Given the description of an element on the screen output the (x, y) to click on. 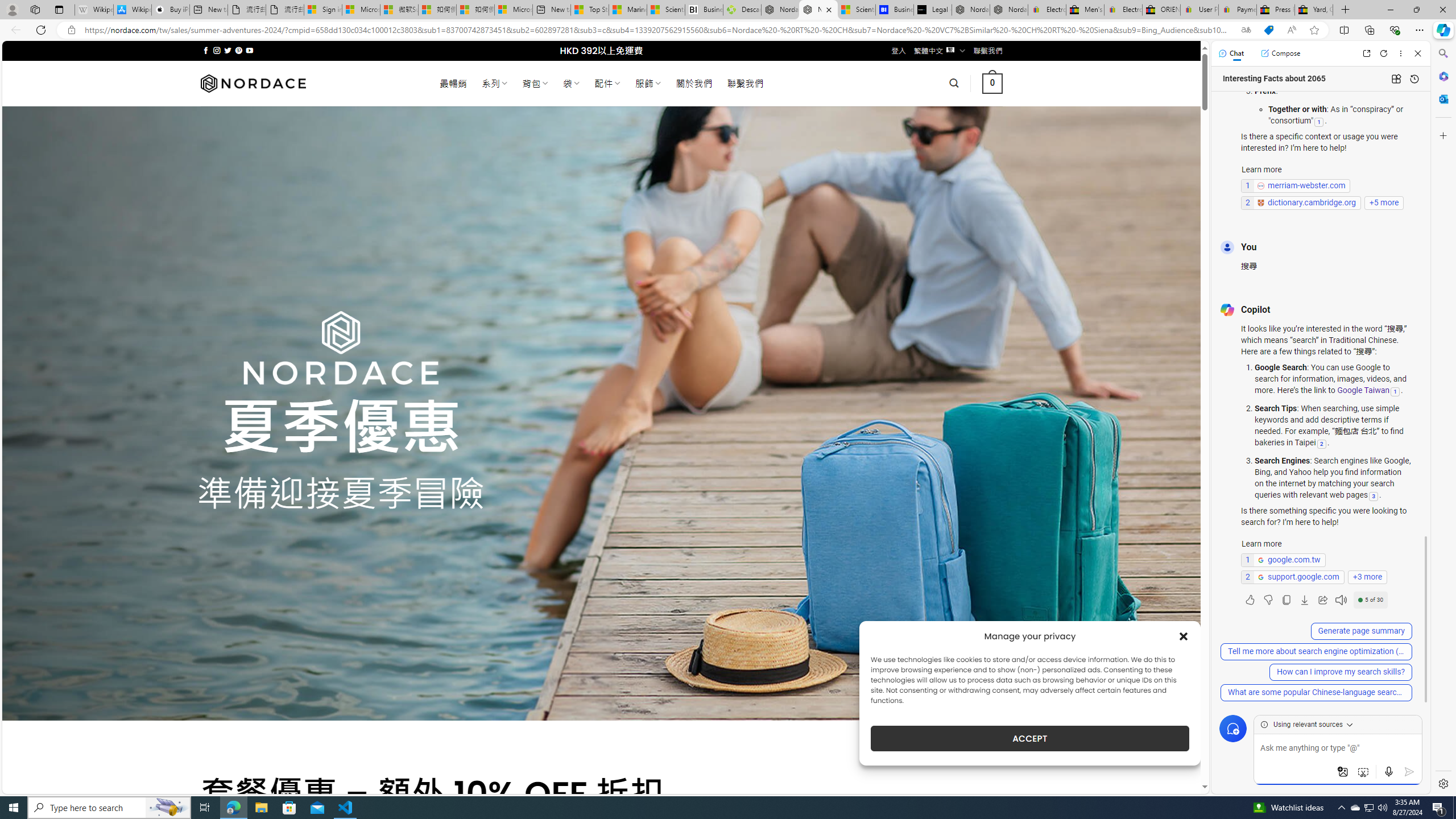
Minimize Search pane (1442, 53)
Compose (1280, 52)
Follow on Twitter (227, 50)
